Given the description of an element on the screen output the (x, y) to click on. 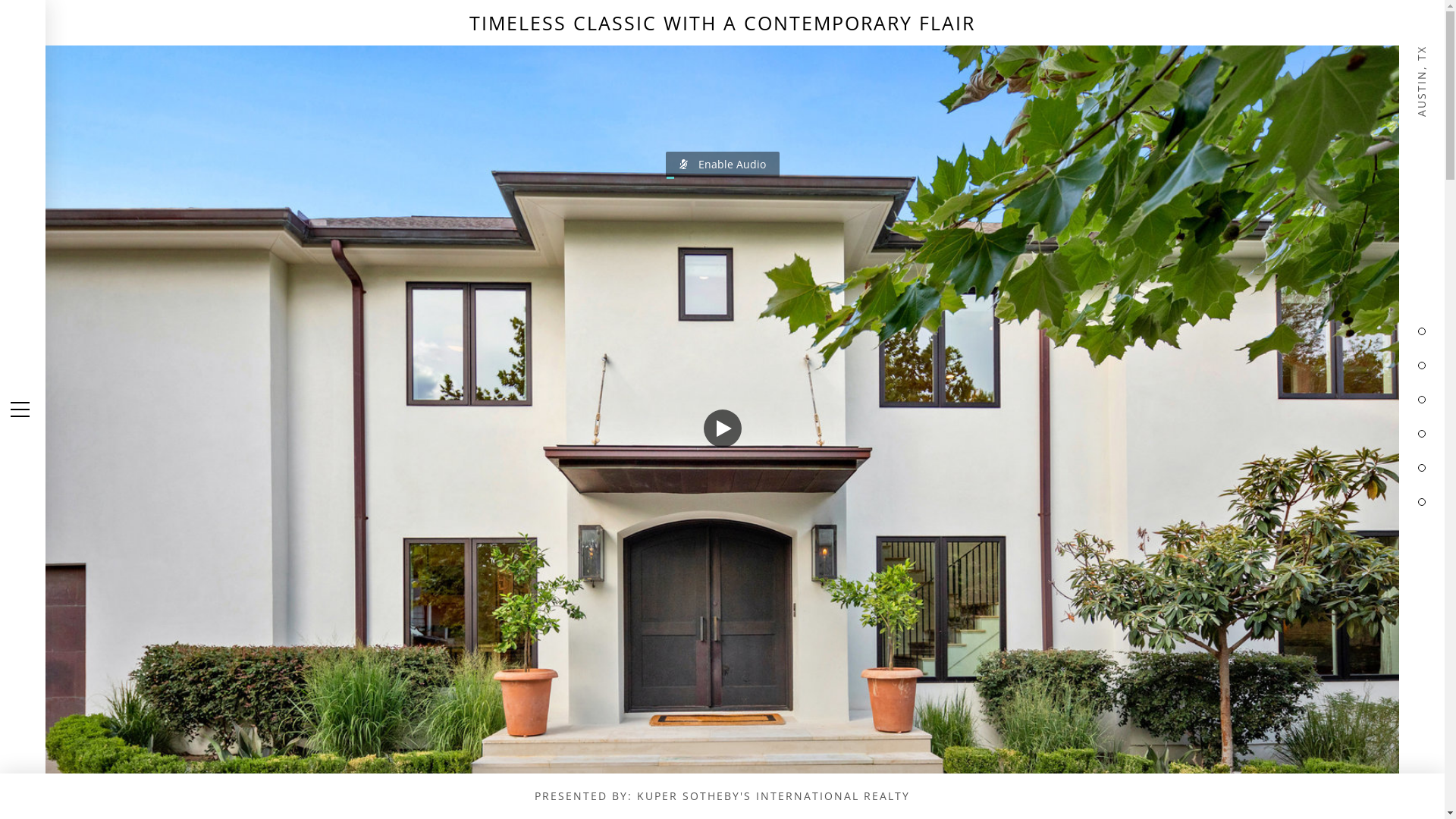
Listing Video Element type: hover (722, 409)
